Given the description of an element on the screen output the (x, y) to click on. 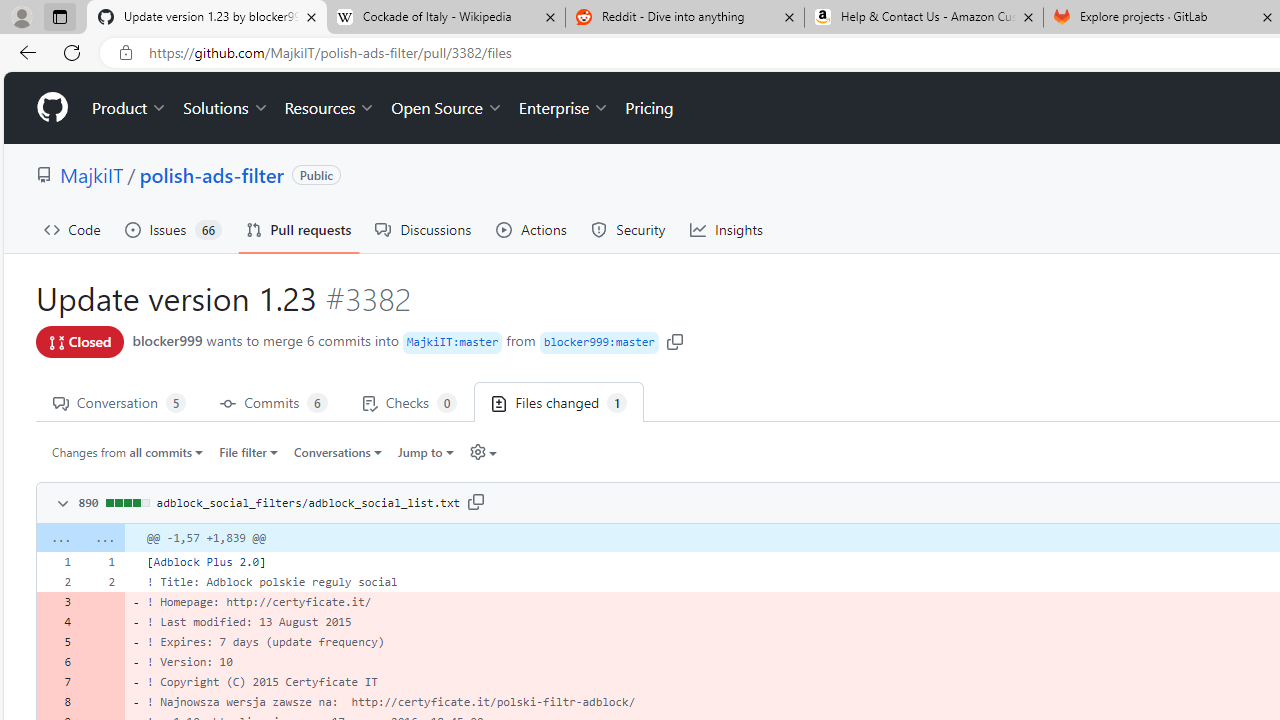
Resources (330, 107)
Reddit - Dive into anything (684, 17)
2 (102, 581)
Changes from all commits (127, 451)
3 (58, 601)
Cockade of Italy - Wikipedia (445, 17)
Diff settings (477, 452)
Class: blob-num blob-num-deletion empty-cell (102, 701)
Open Source (446, 107)
Pull requests (298, 229)
Insights (726, 229)
Issues66 (173, 229)
 Files changed 1 (559, 401)
Pricing (649, 107)
Open Source (446, 107)
